Given the description of an element on the screen output the (x, y) to click on. 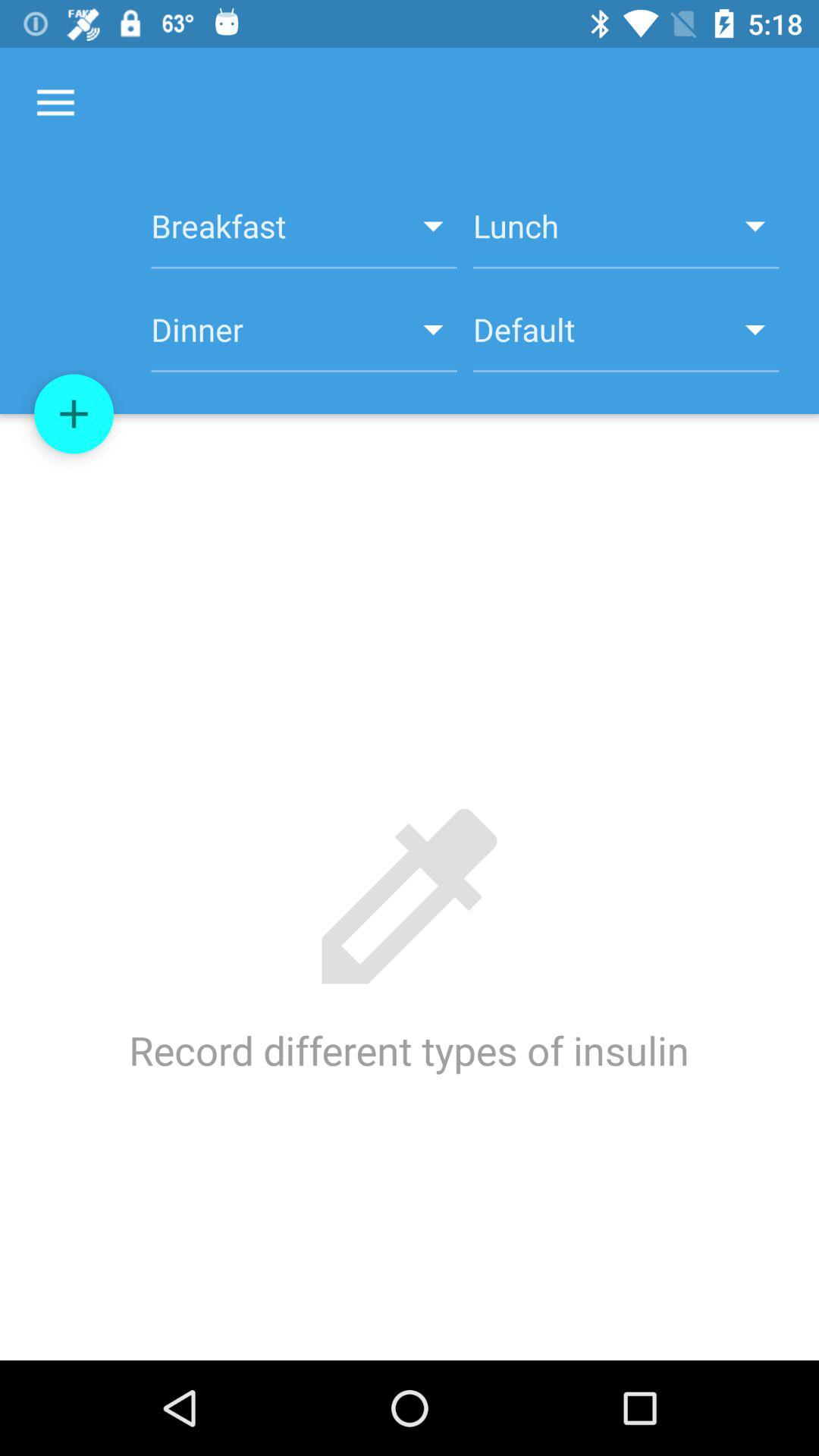
add button (73, 413)
